Given the description of an element on the screen output the (x, y) to click on. 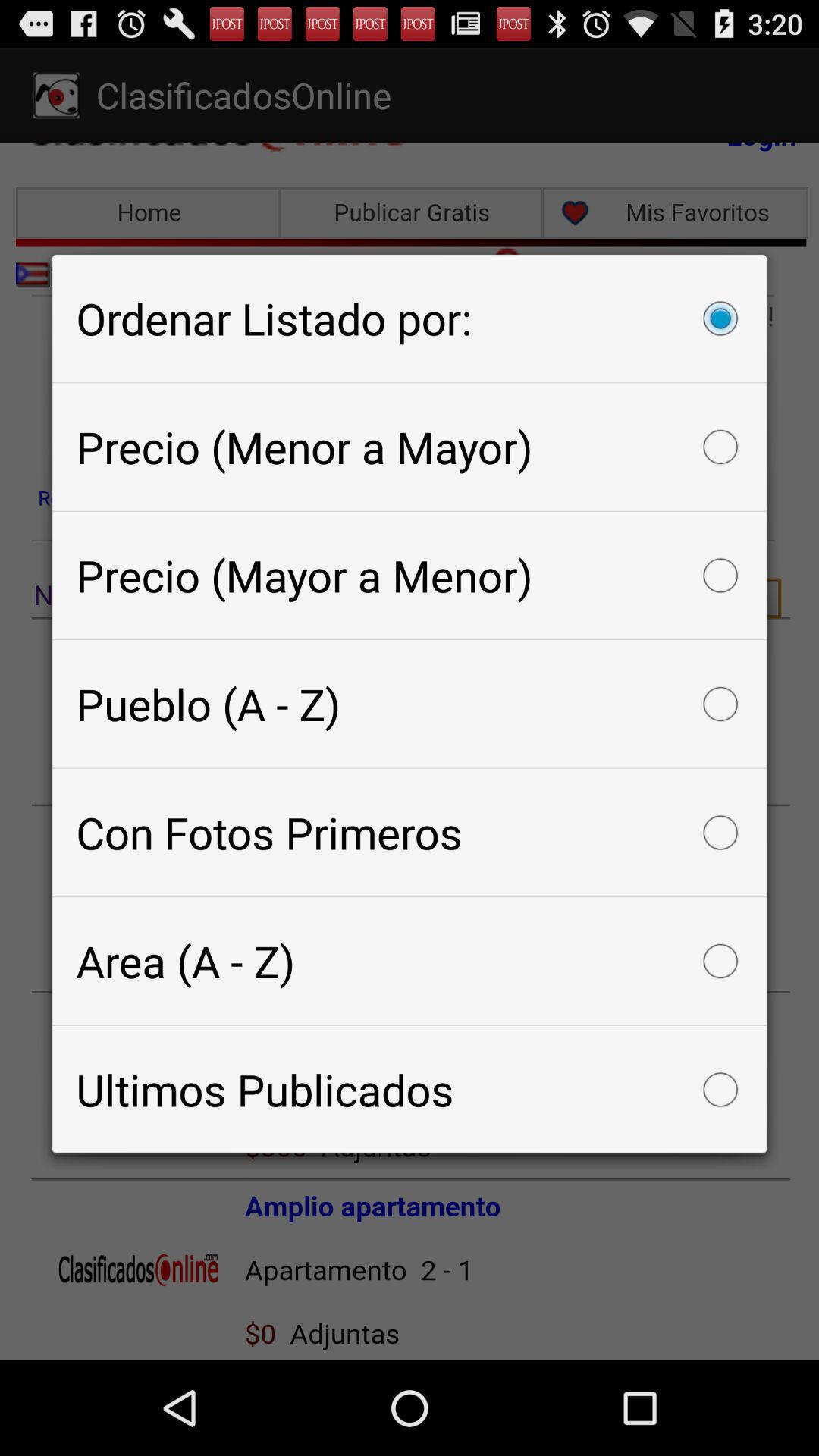
launch checkbox above precio menor a icon (409, 318)
